Given the description of an element on the screen output the (x, y) to click on. 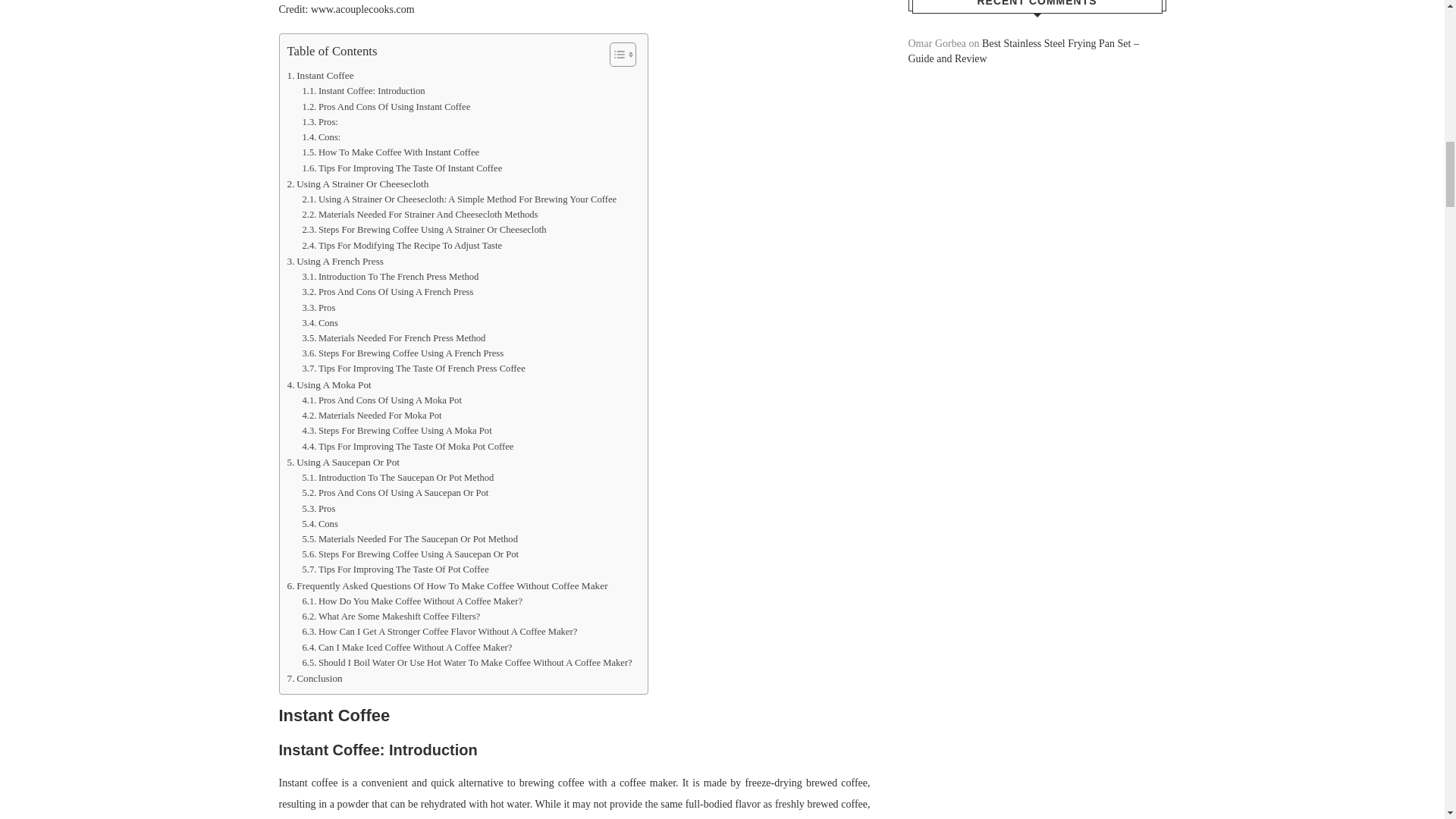
Pros And Cons Of Using Instant Coffee (385, 106)
Materials Needed For Strainer And Cheesecloth Methods (419, 214)
Steps For Brewing Coffee Using A Strainer Or Cheesecloth (423, 229)
Cons: (320, 136)
Pros: (319, 121)
Tips For Improving The Taste Of Instant Coffee (401, 168)
Introduction To The French Press Method (390, 276)
Instant Coffee: Introduction (363, 90)
Using A French Press (335, 261)
Instant Coffee: Introduction (363, 90)
How To Make Coffee With Instant Coffee (390, 151)
Instant Coffee (319, 75)
Using A Strainer Or Cheesecloth (357, 183)
Pros: (319, 121)
